Given the description of an element on the screen output the (x, y) to click on. 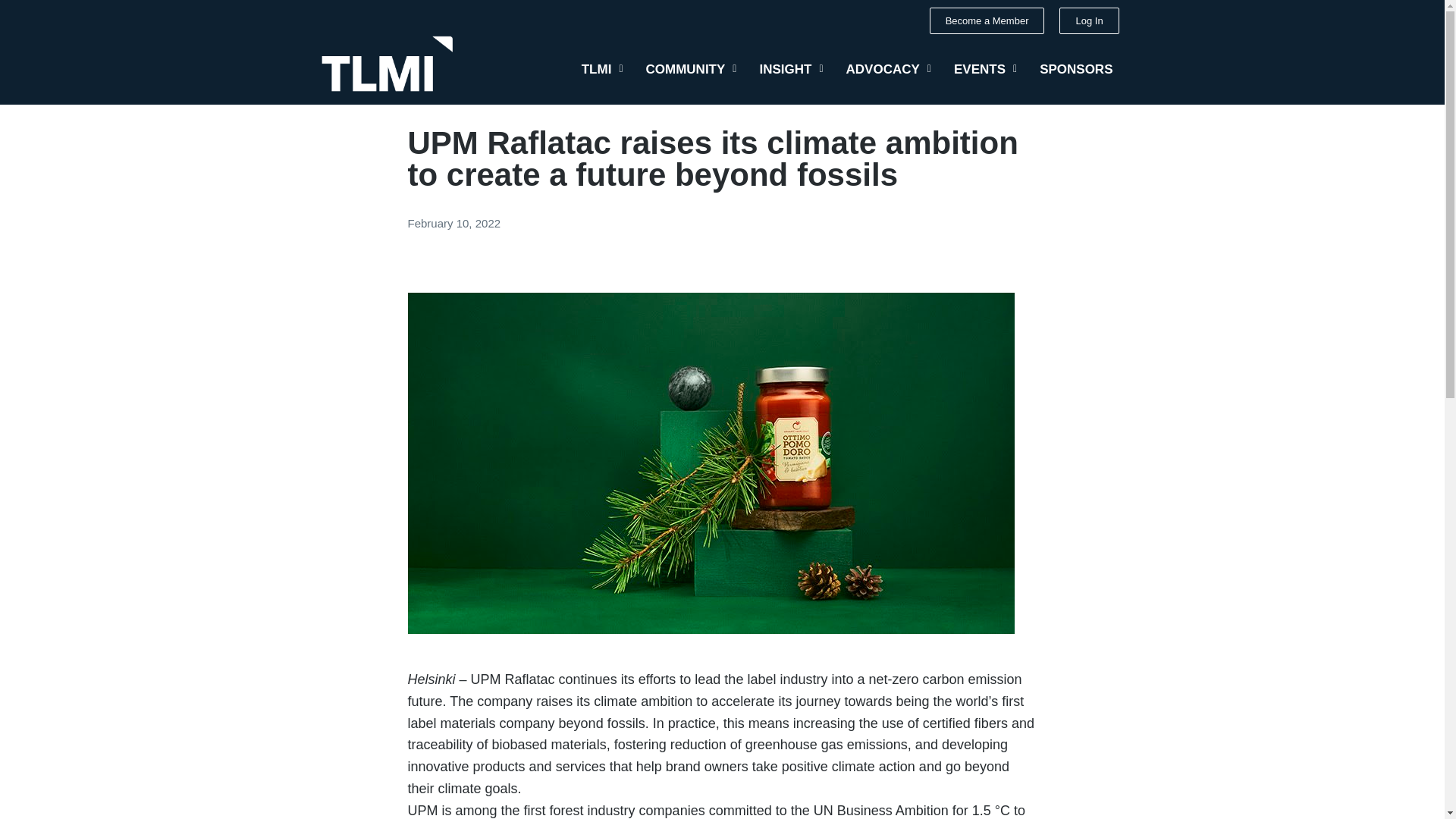
INSIGHT (791, 68)
SPONSORS (1075, 68)
TLMI (602, 68)
Become a Member (987, 20)
COMMUNITY (691, 68)
Log In (1088, 20)
ADVOCACY (888, 68)
EVENTS (984, 68)
